Given the description of an element on the screen output the (x, y) to click on. 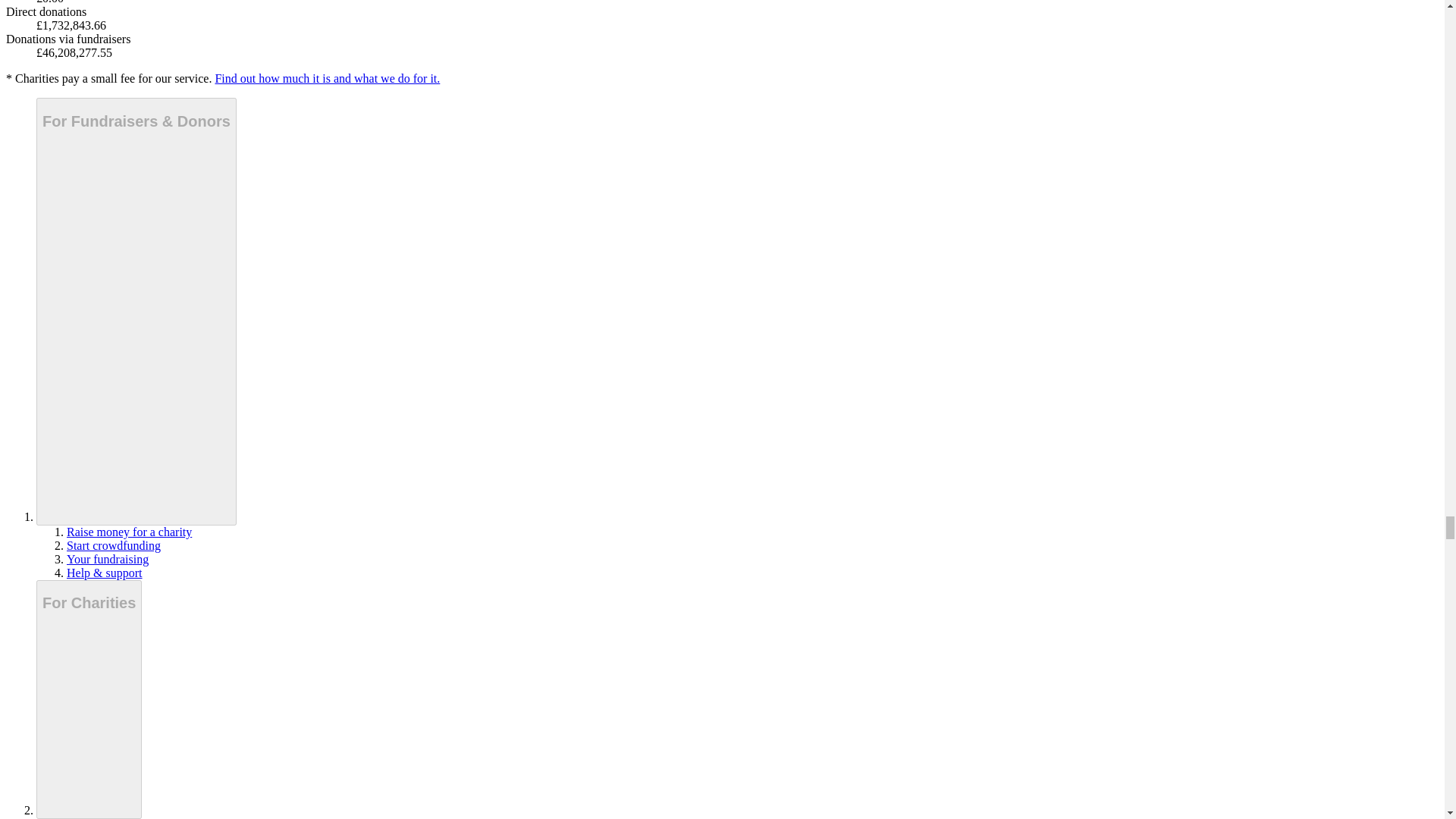
Raise money for a charity (129, 531)
Find out how much it is and what we do for it. (326, 78)
Start crowdfunding (113, 545)
